Given the description of an element on the screen output the (x, y) to click on. 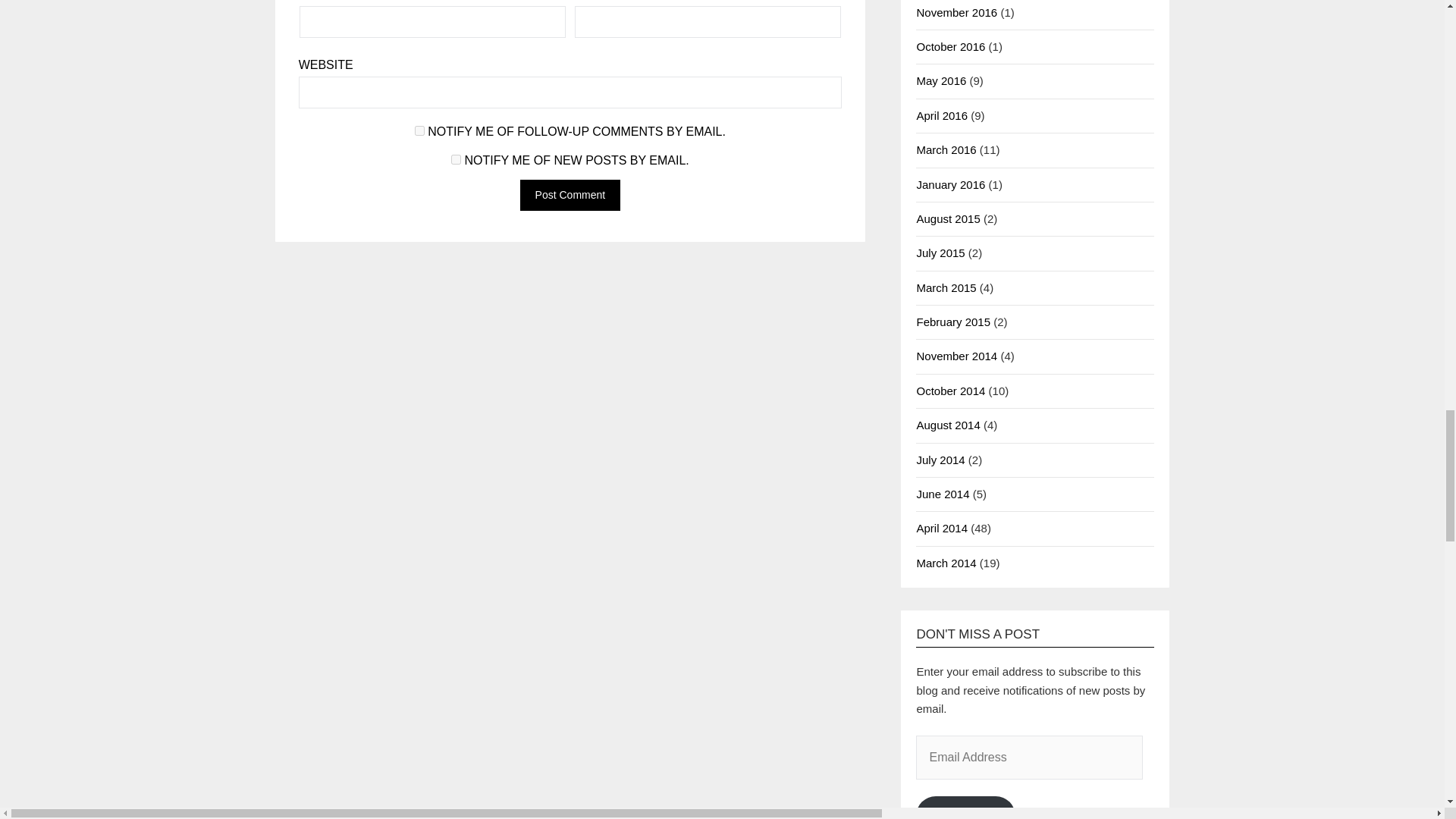
subscribe (456, 159)
subscribe (419, 130)
Post Comment (570, 194)
Post Comment (570, 194)
